Given the description of an element on the screen output the (x, y) to click on. 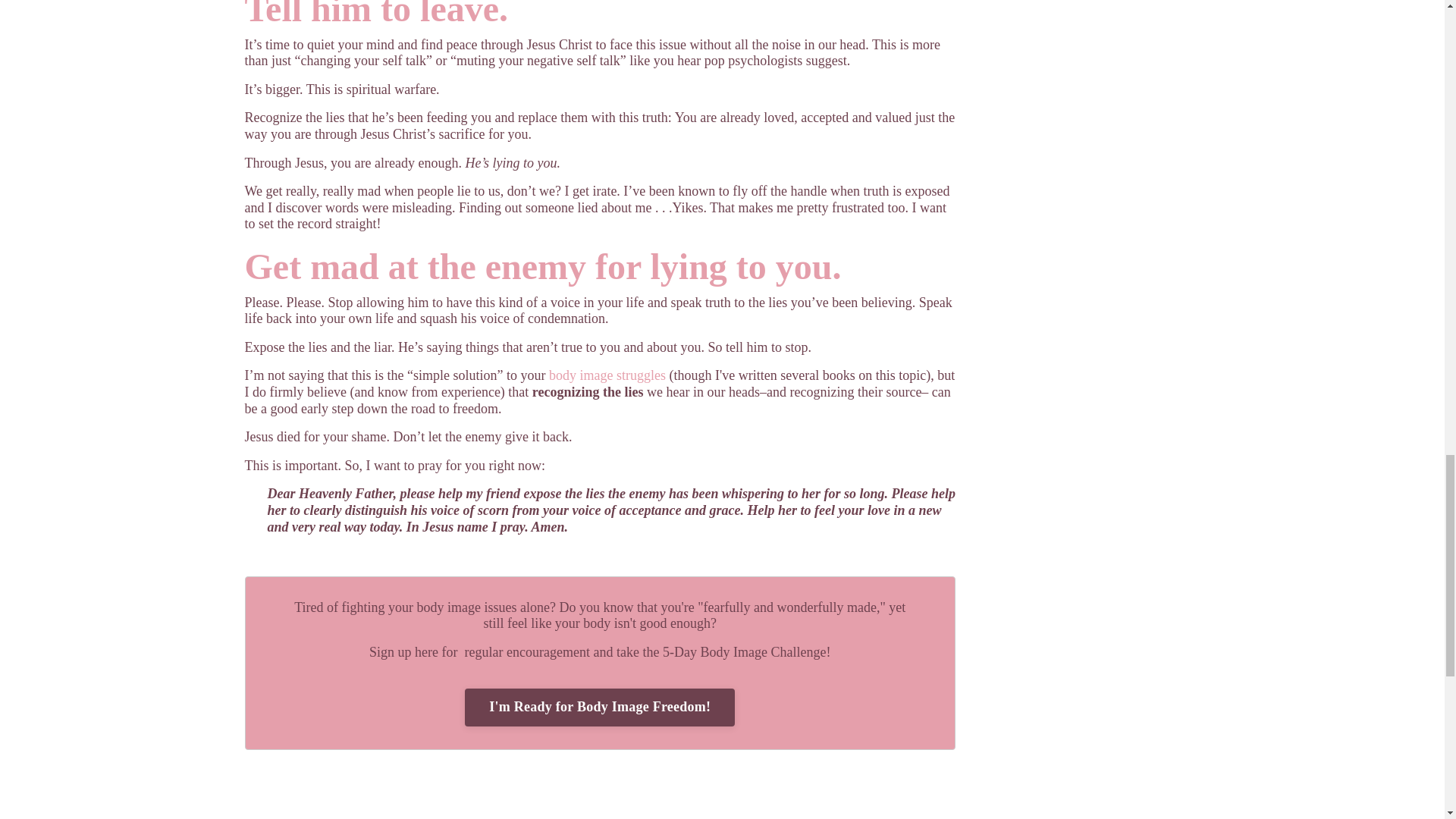
I'm Ready for Body Image Freedom! (599, 707)
body image struggles (606, 375)
